Given the description of an element on the screen output the (x, y) to click on. 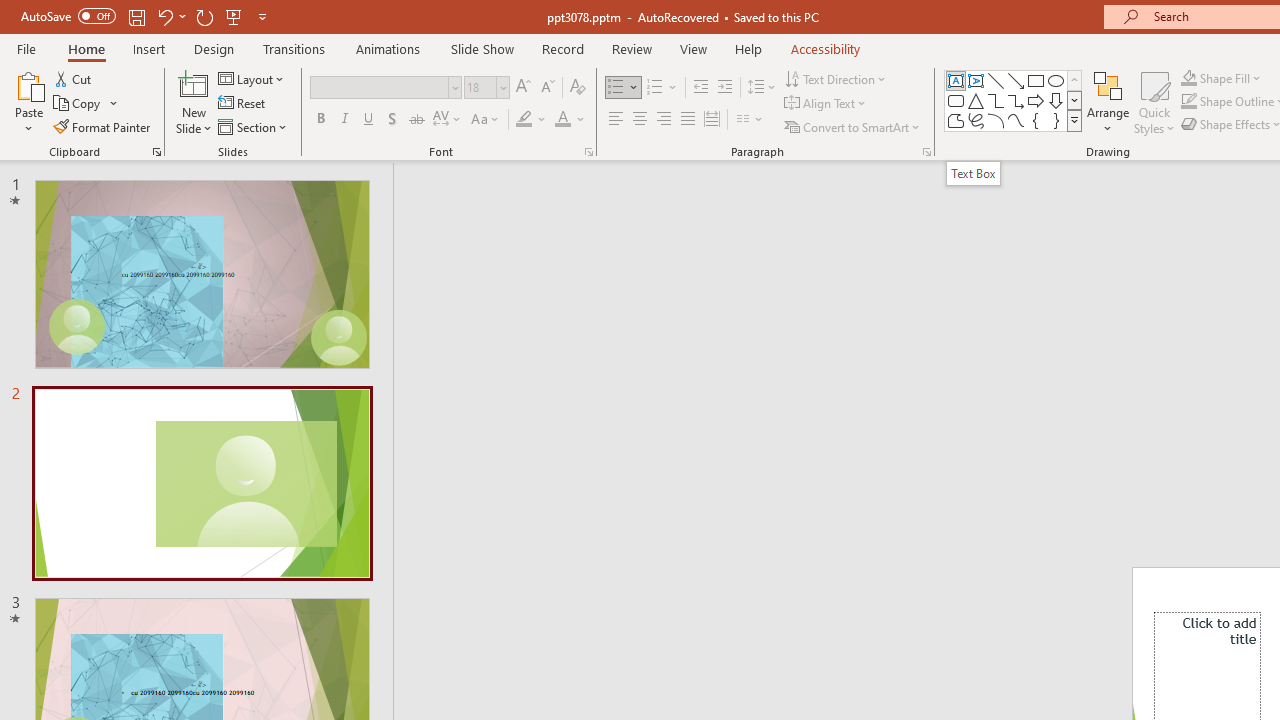
Shape Outline Green, Accent 1 (1188, 101)
